Given the description of an element on the screen output the (x, y) to click on. 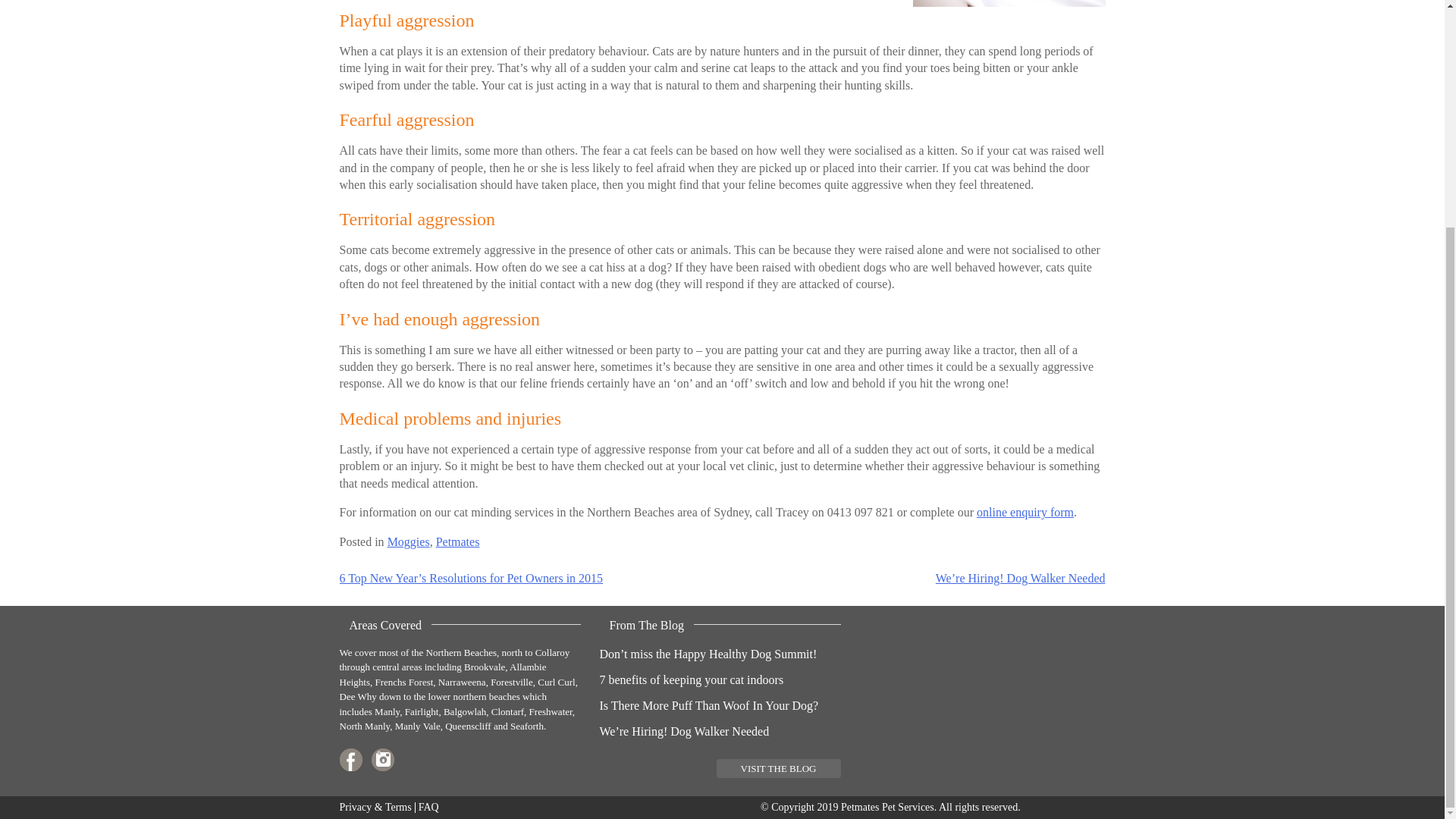
Is There More Puff Than Woof In Your Dog? (708, 705)
7 benefits of keeping your cat indoors (690, 679)
Petmates (457, 541)
FAQ (429, 807)
VISIT THE BLOG (778, 768)
instagram (382, 759)
Moggies (408, 541)
online enquiry form (1025, 512)
facebook (350, 759)
